Given the description of an element on the screen output the (x, y) to click on. 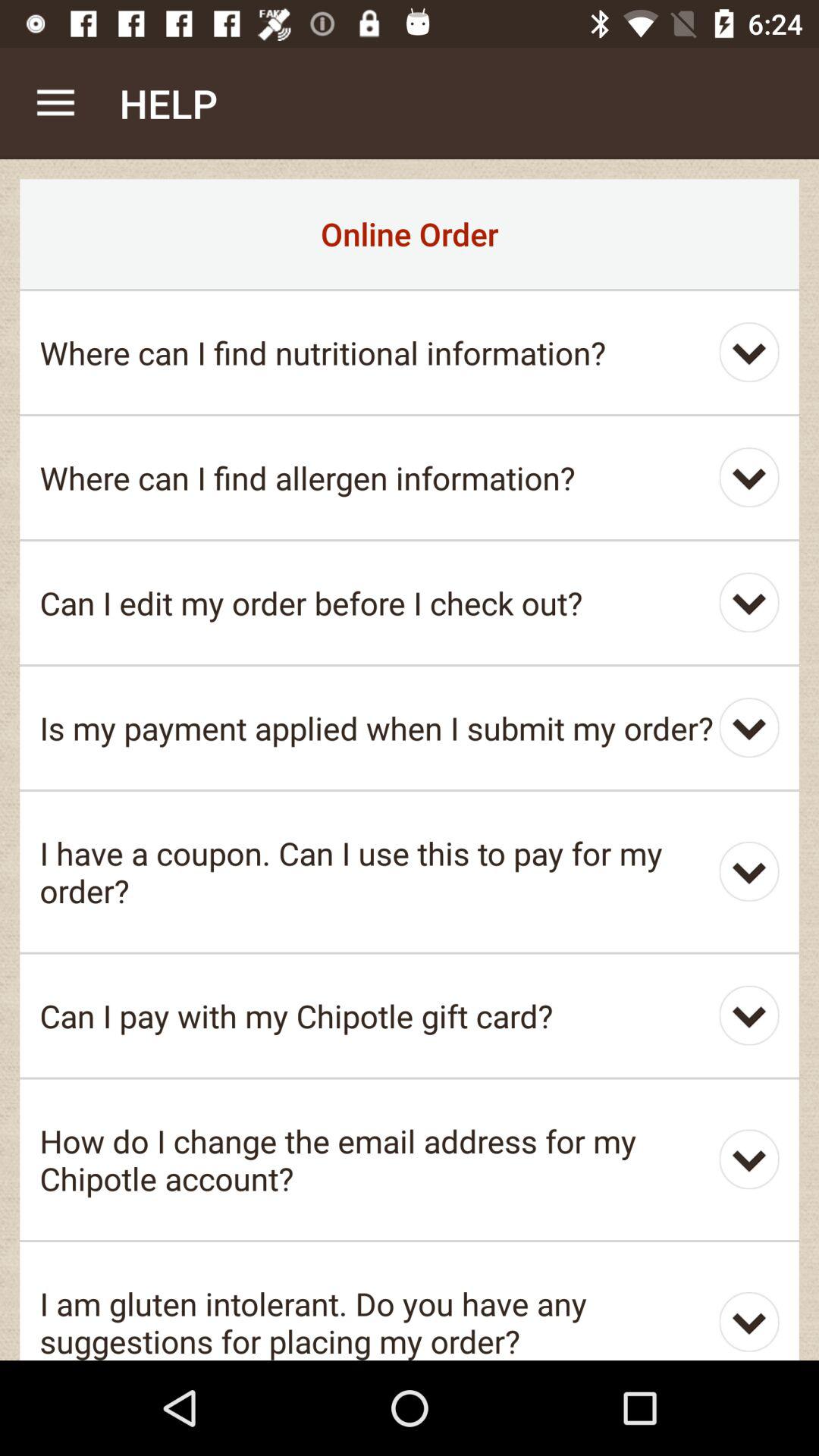
turn on the item above the online order (55, 103)
